Given the description of an element on the screen output the (x, y) to click on. 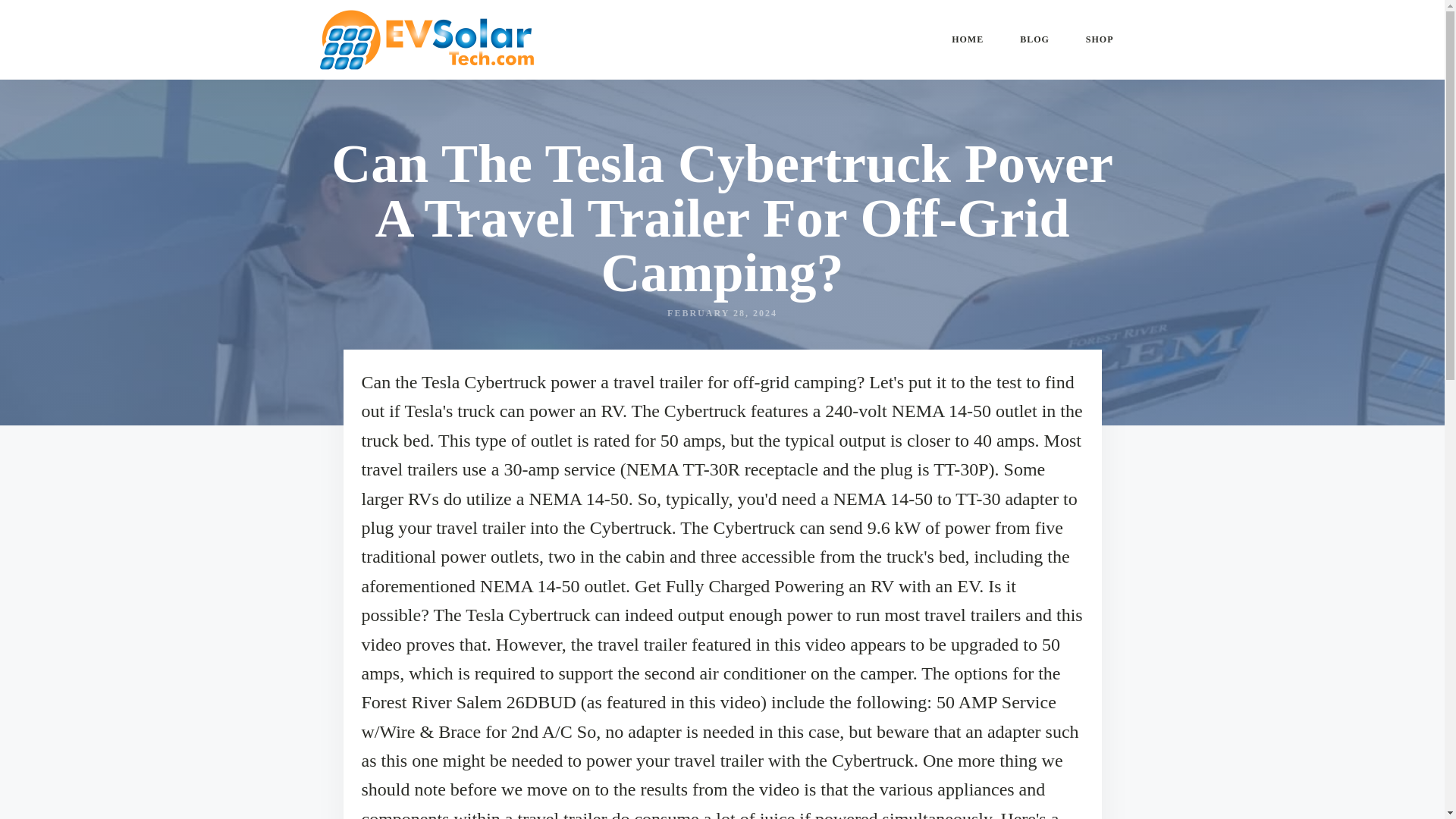
SHOP (1099, 39)
HOME (967, 39)
BLOG (1034, 39)
